Given the description of an element on the screen output the (x, y) to click on. 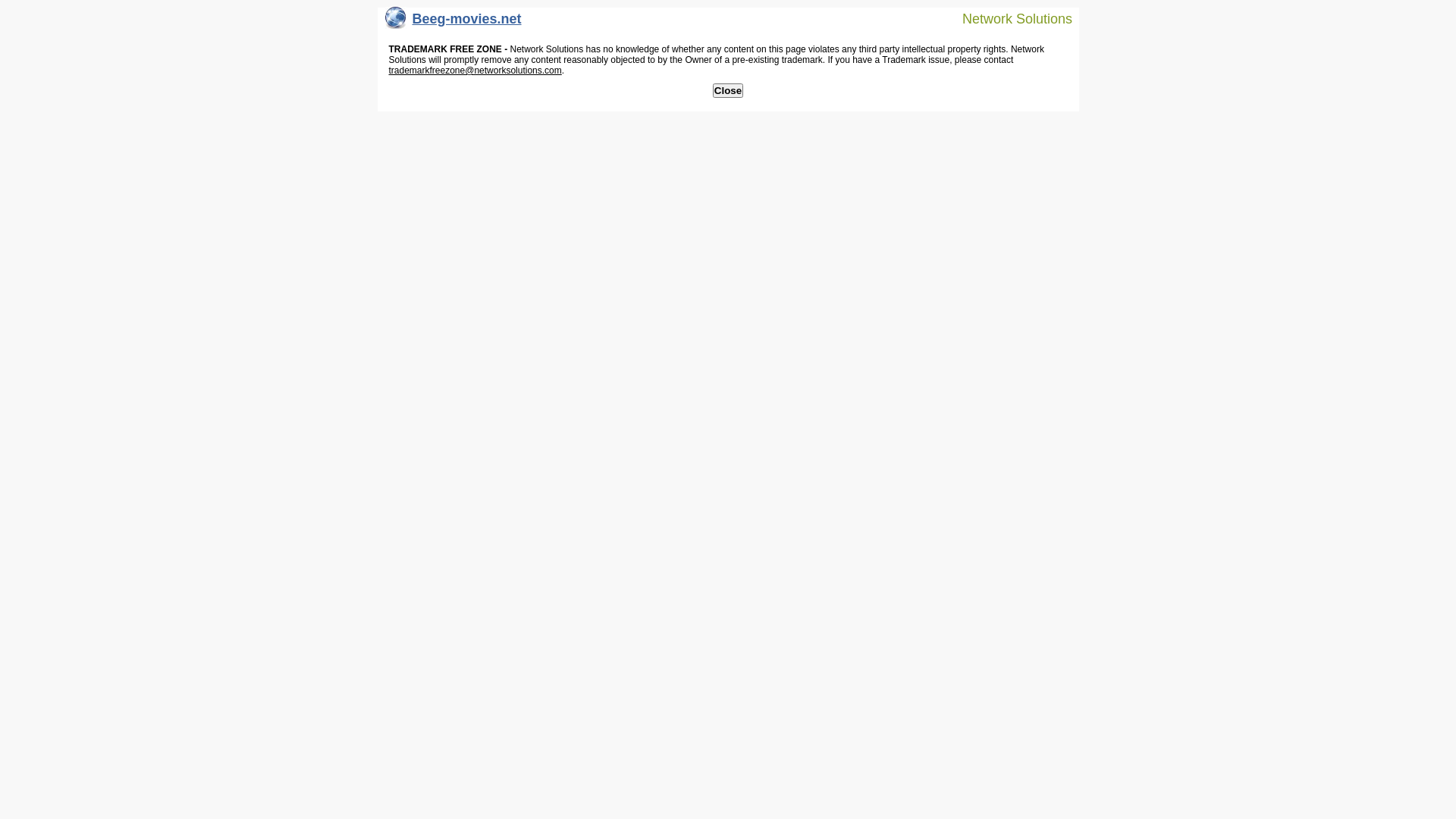
Network Solutions Element type: text (1007, 17)
Beeg-movies.net Element type: text (453, 21)
Close Element type: text (727, 90)
trademarkfreezone@networksolutions.com Element type: text (474, 70)
